Given the description of an element on the screen output the (x, y) to click on. 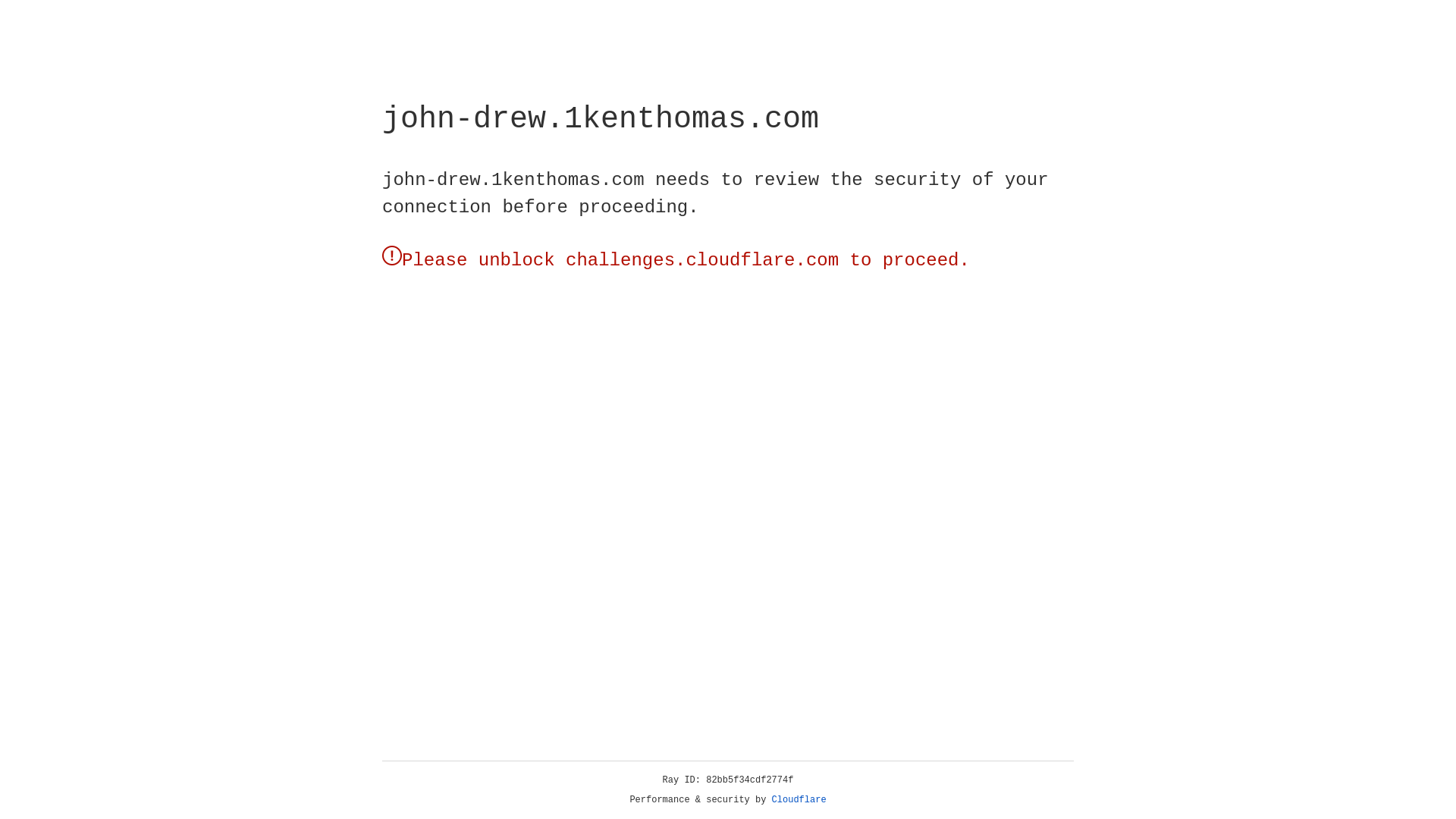
Cloudflare Element type: text (798, 799)
